Given the description of an element on the screen output the (x, y) to click on. 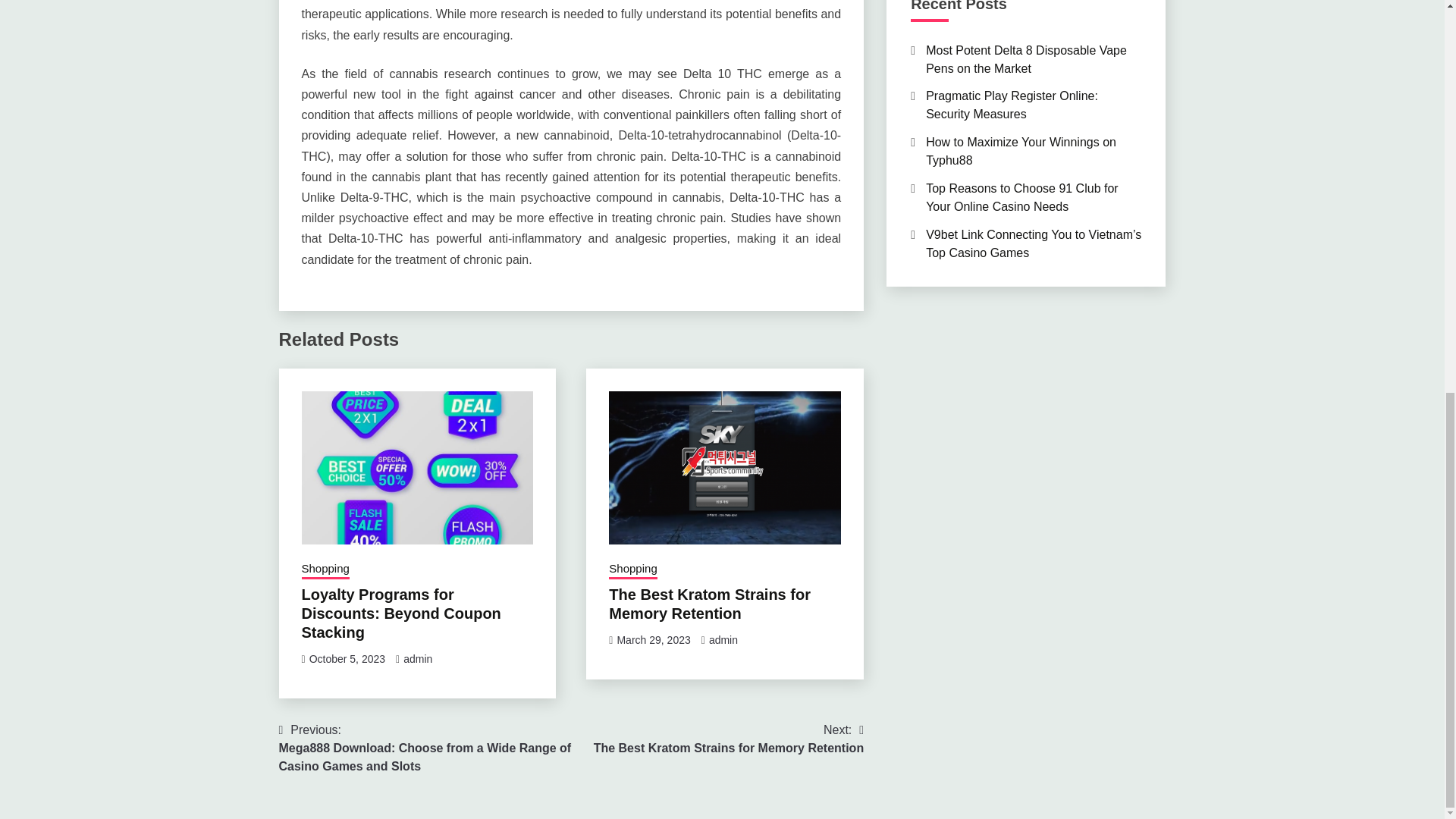
Shopping (325, 569)
The Best Kratom Strains for Memory Retention (709, 603)
March 29, 2023 (652, 639)
Loyalty Programs for Discounts: Beyond Coupon Stacking (400, 613)
admin (417, 658)
admin (723, 639)
October 5, 2023 (346, 658)
Shopping (729, 739)
